Given the description of an element on the screen output the (x, y) to click on. 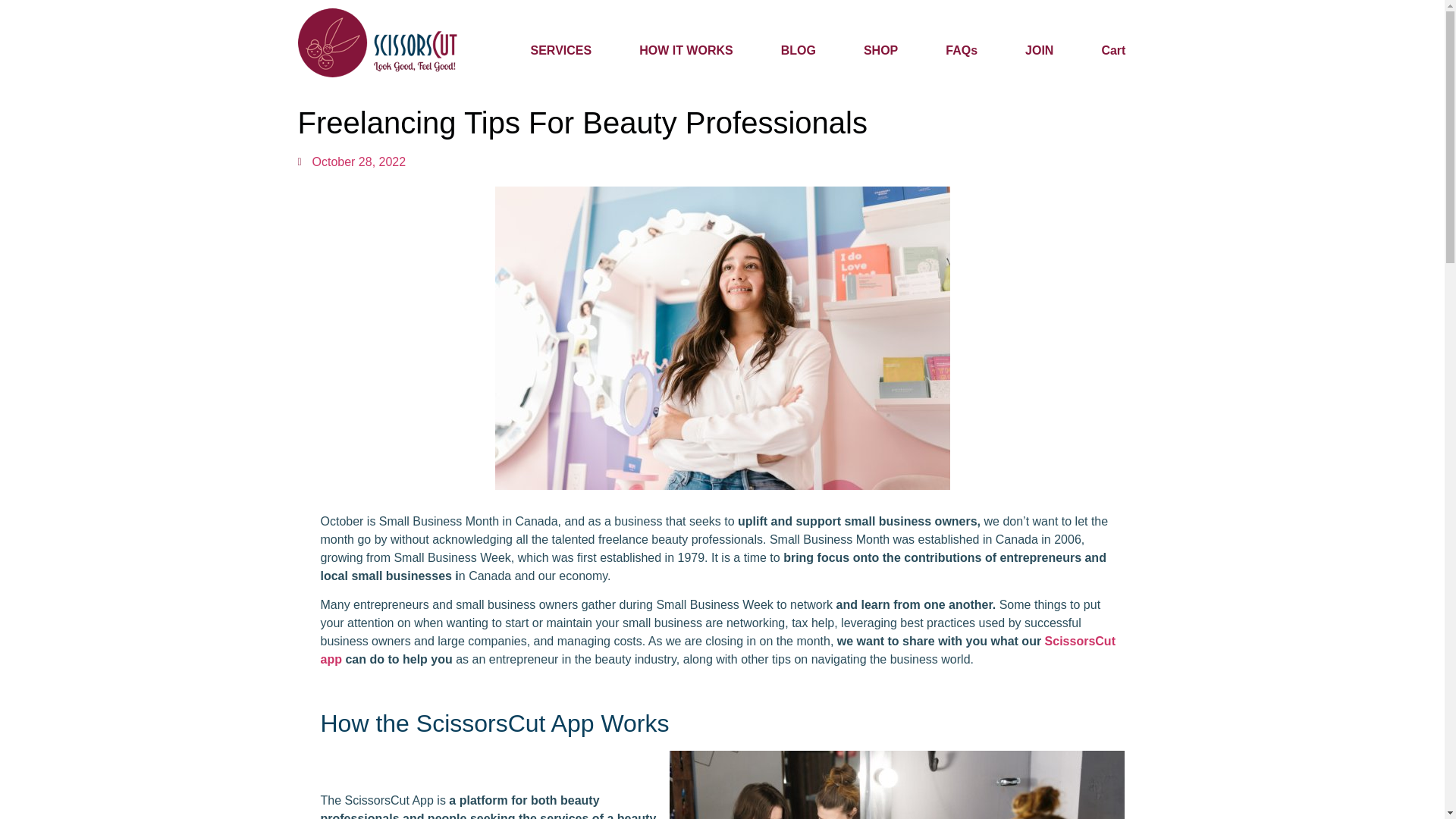
JOIN (1039, 50)
ScissorsCut app (717, 649)
SHOP (880, 50)
HOW IT WORKS (686, 50)
October 28, 2022 (351, 162)
SERVICES (561, 50)
BLOG (798, 50)
FAQs (961, 50)
Cart (1113, 50)
